Given the description of an element on the screen output the (x, y) to click on. 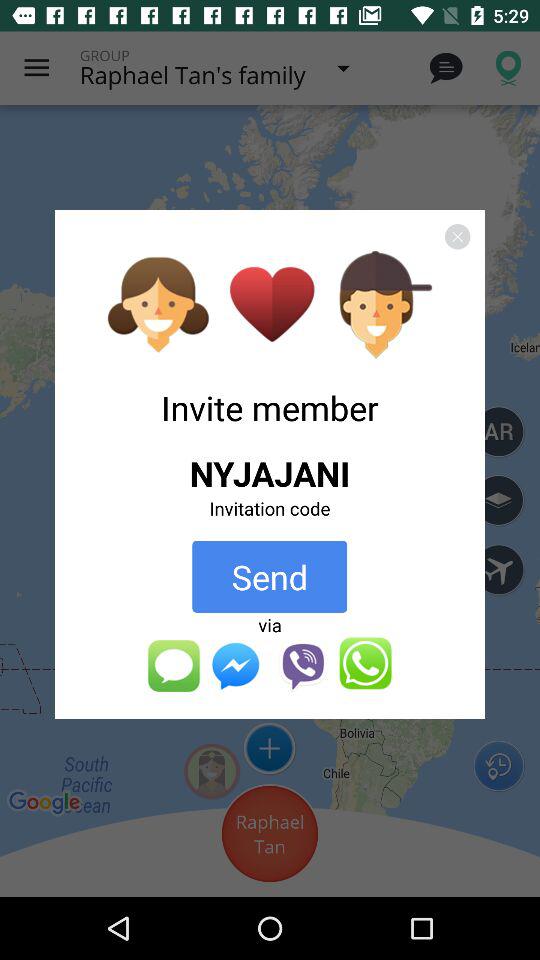
close dialogue box (457, 236)
